Given the description of an element on the screen output the (x, y) to click on. 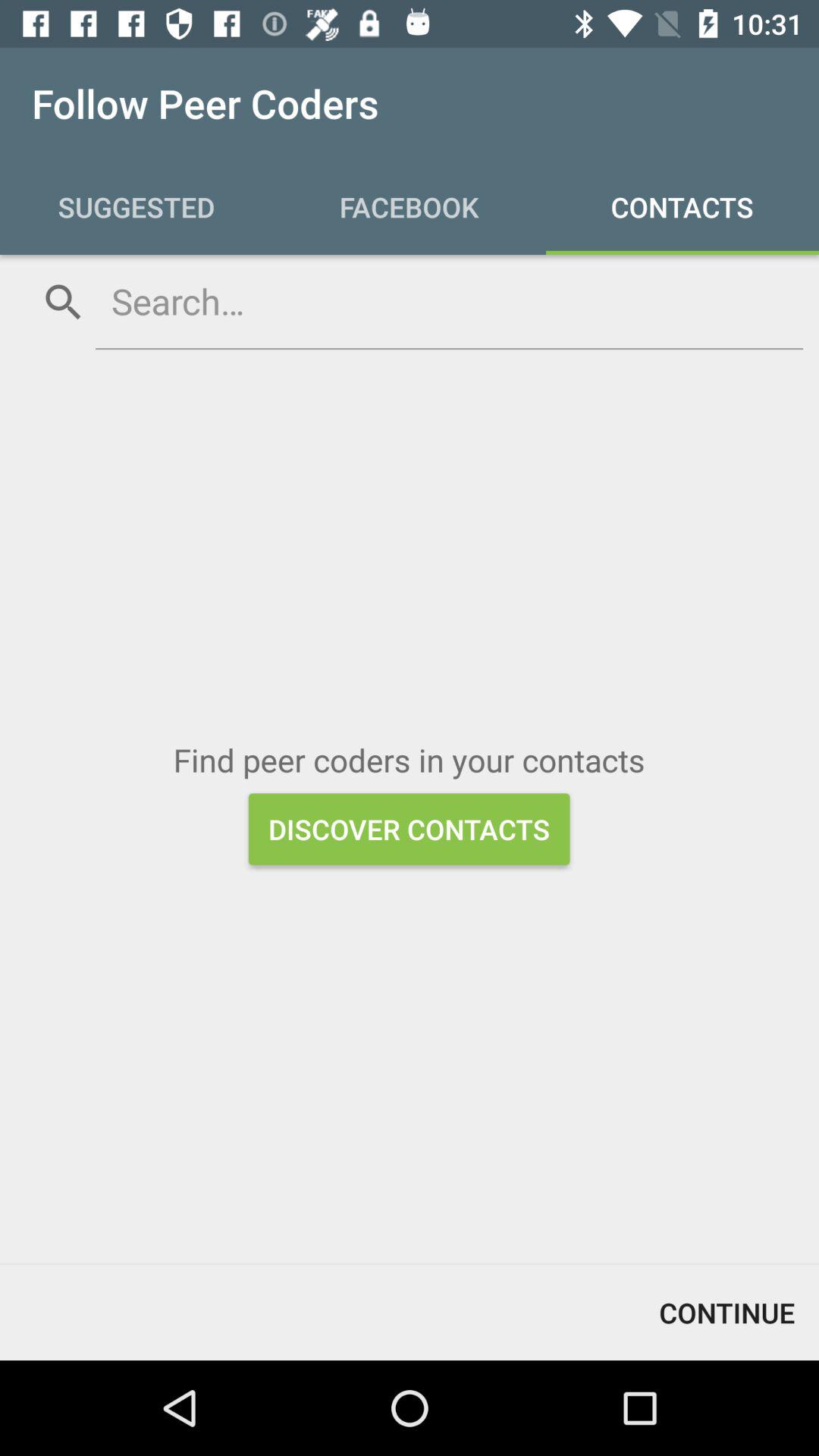
enter search (449, 301)
